Given the description of an element on the screen output the (x, y) to click on. 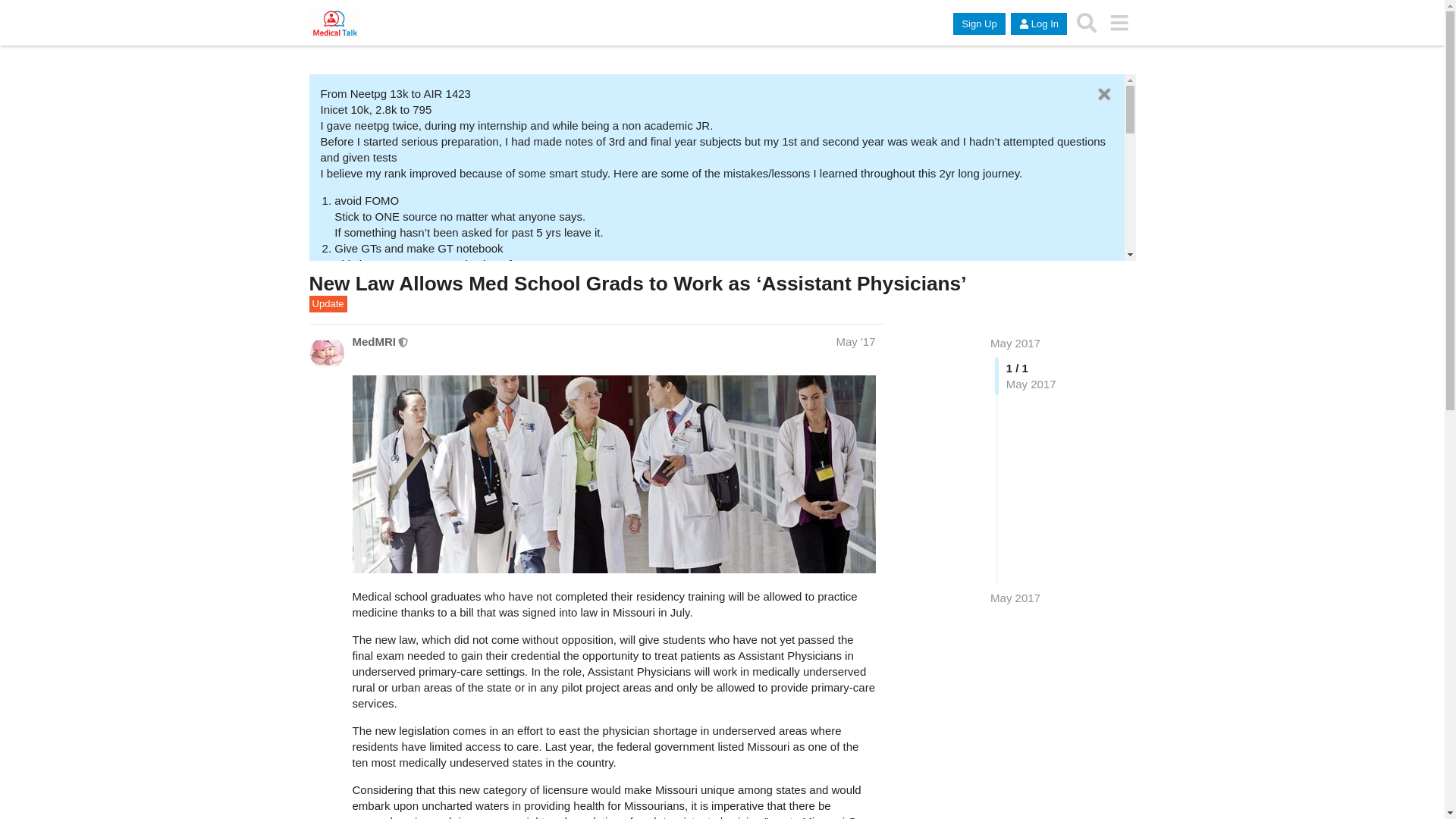
menu (1119, 22)
Sign Up (978, 24)
May 2017 (1015, 597)
May 2017 (1015, 342)
Search (1086, 22)
May 2017 (1015, 342)
e054df4e03929ac4cc3befb3742c6eb9-1003x380.jpg (613, 474)
May 2017 (1015, 597)
Dismiss this banner (1104, 94)
Log In (1038, 24)
